Given the description of an element on the screen output the (x, y) to click on. 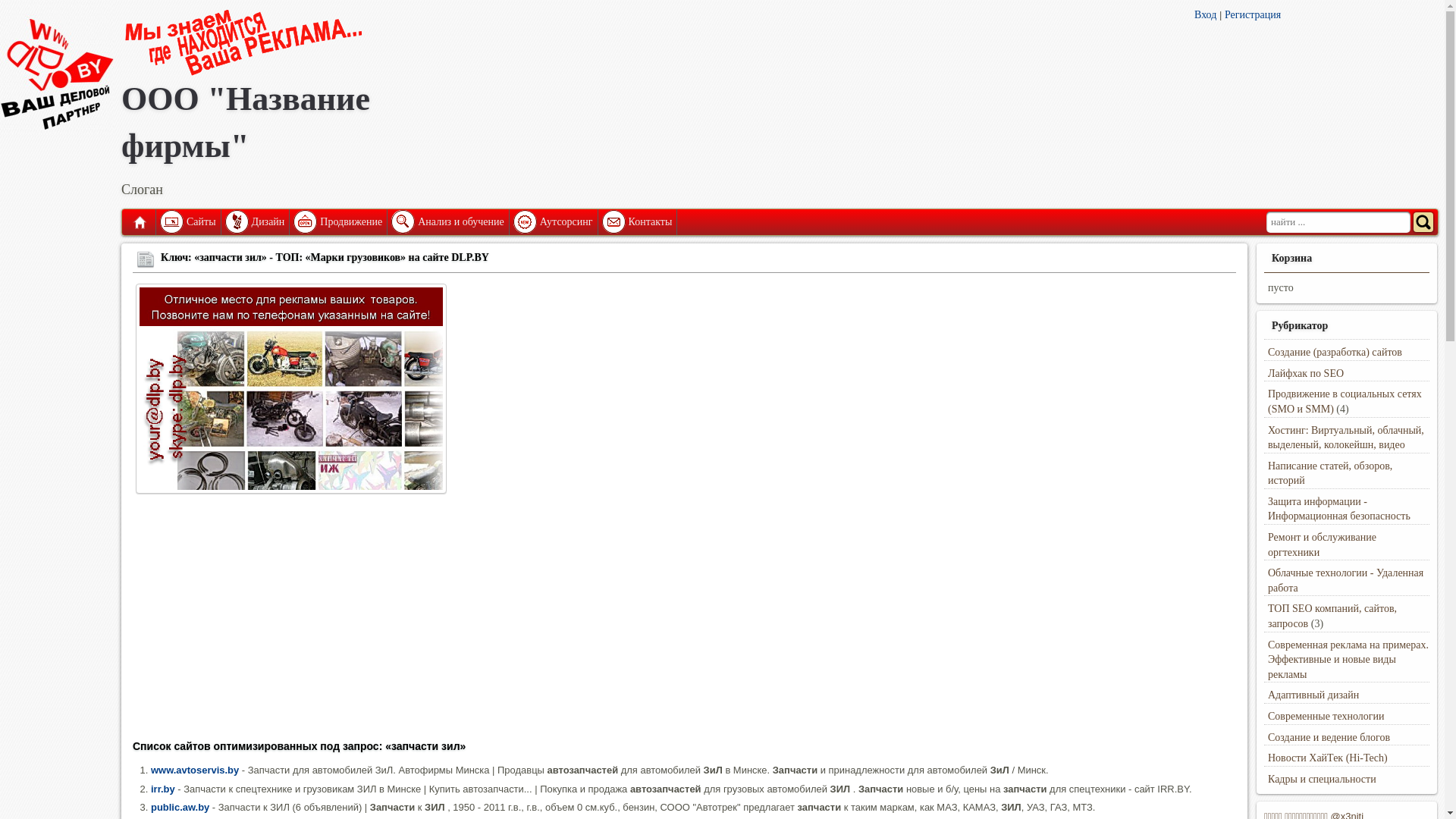
public.aw.by Element type: text (179, 806)
irr.by Element type: text (162, 788)
Advertisement Element type: hover (587, 621)
www.avtoservis.by Element type: text (194, 769)
